Given the description of an element on the screen output the (x, y) to click on. 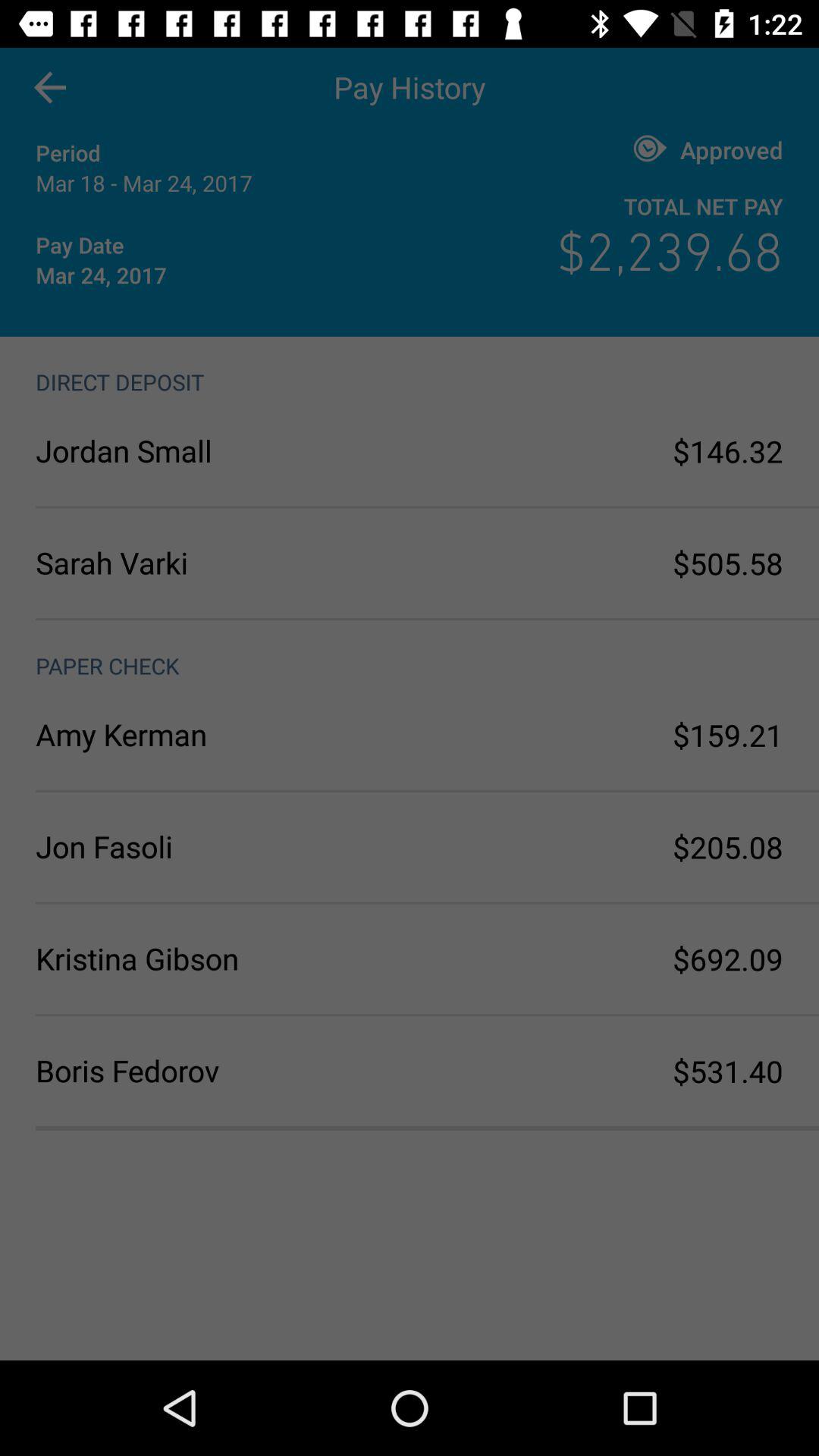
flip to $205.08 item (727, 846)
